Given the description of an element on the screen output the (x, y) to click on. 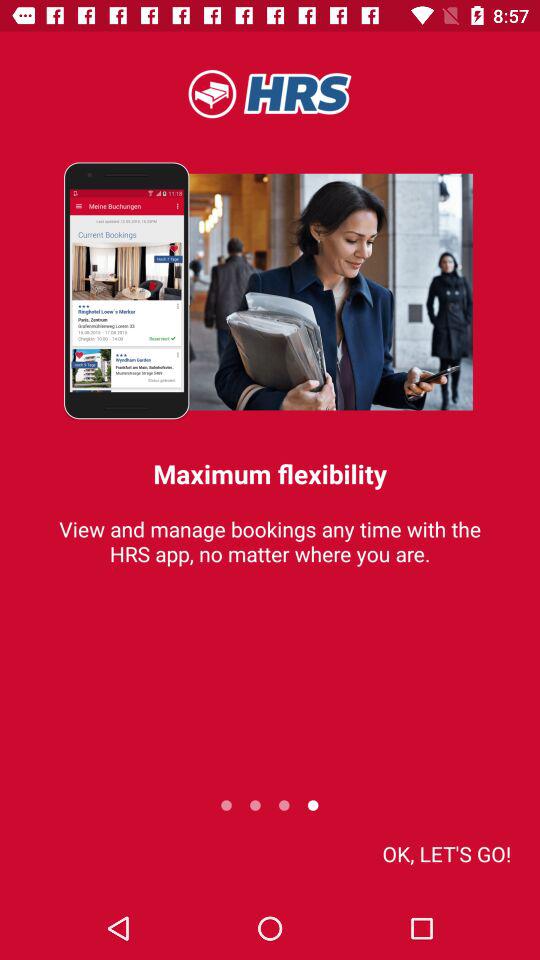
open ok let s (446, 853)
